Given the description of an element on the screen output the (x, y) to click on. 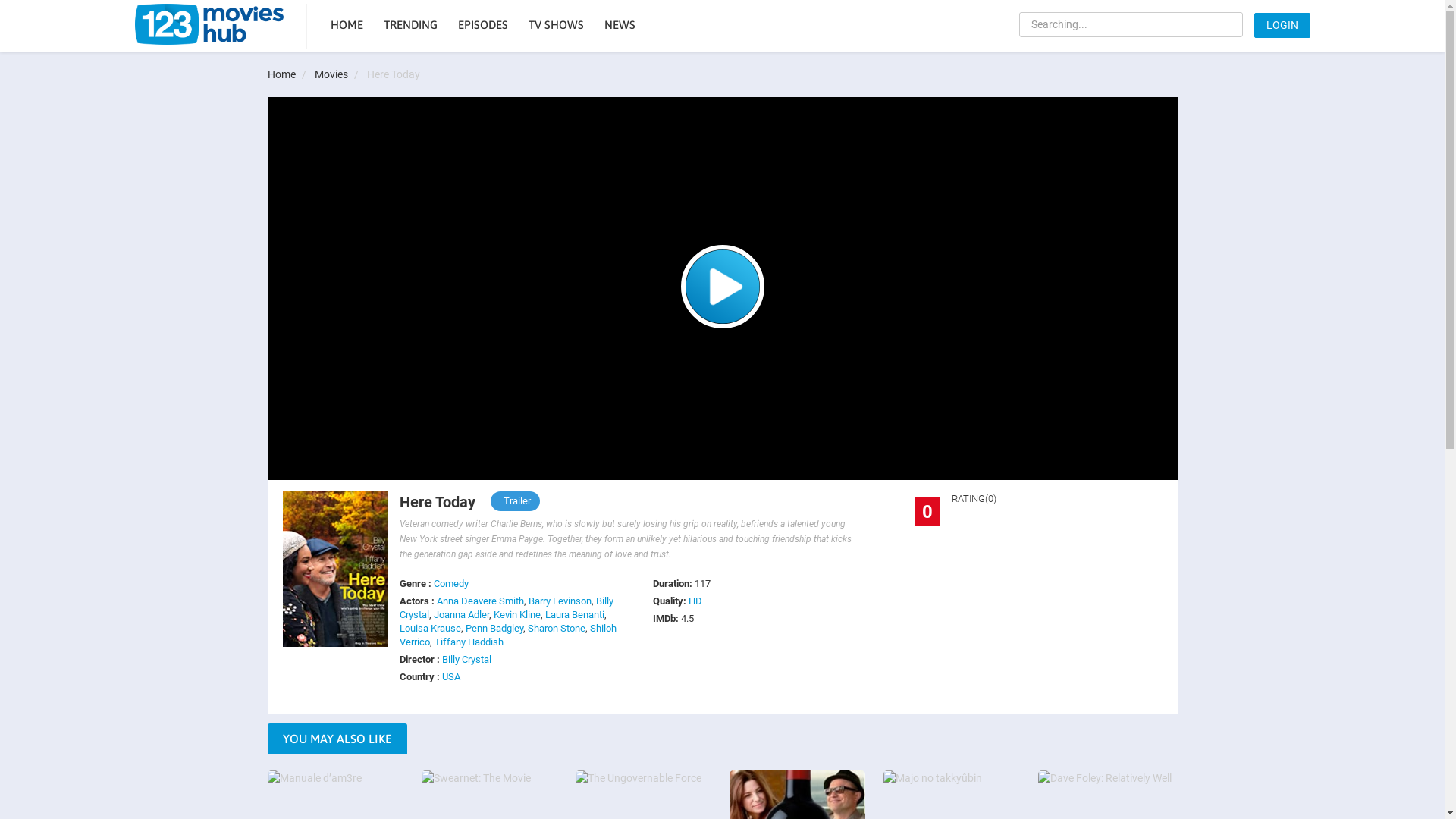
HD Element type: text (695, 600)
NEWS Element type: text (619, 25)
TRENDING Element type: text (410, 25)
Anna Deavere Smith Element type: text (480, 600)
Laura Benanti Element type: text (574, 614)
TV SHOWS Element type: text (555, 25)
Billy Crystal Element type: text (506, 607)
Home/ Element type: text (288, 74)
EPISODES Element type: text (482, 25)
Tiffany Haddish Element type: text (468, 641)
Louisa Krause Element type: text (430, 627)
Billy Crystal Element type: text (466, 659)
Penn Badgley Element type: text (494, 627)
Trailer Element type: text (516, 500)
Kevin Kline Element type: text (516, 614)
Movies/ Element type: text (338, 74)
Joanna Adler Element type: text (461, 614)
LOGIN Element type: text (1282, 24)
Sharon Stone Element type: text (556, 627)
USA Element type: text (451, 676)
Shiloh Verrico Element type: text (507, 634)
HOME Element type: text (346, 25)
Here Today Element type: hover (721, 286)
Comedy Element type: text (450, 583)
Barry Levinson Element type: text (559, 600)
